Given the description of an element on the screen output the (x, y) to click on. 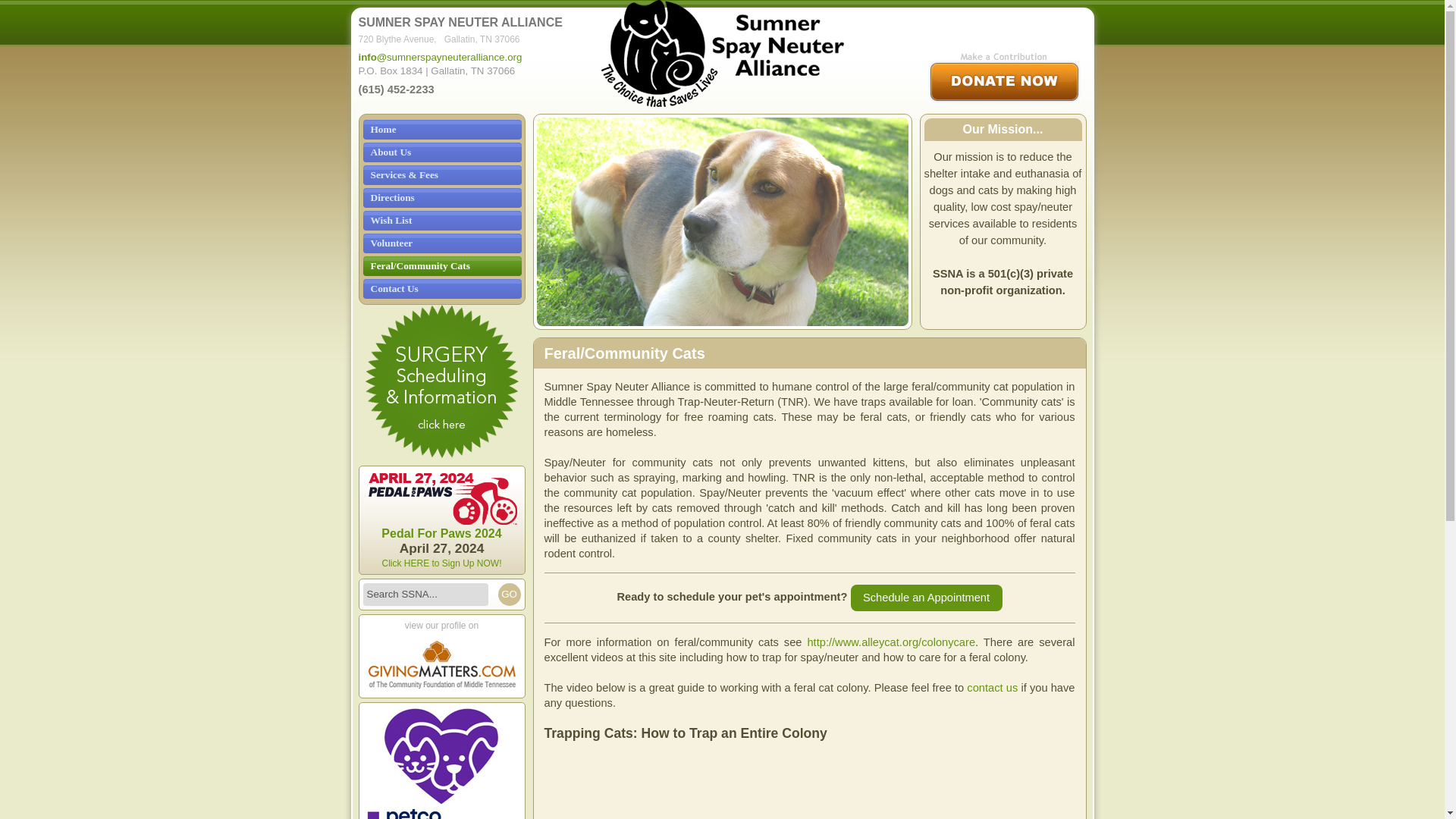
About Us (441, 151)
Schedule an Appointment (926, 597)
Home (441, 128)
Wish List (441, 220)
Donate Now (1004, 78)
GO (508, 594)
Contact Us (441, 288)
Pedal For Paws 2024 (440, 534)
Click HERE to Sign Up NOW! (440, 562)
Surgery Information (441, 380)
Volunteer (441, 242)
GO (508, 594)
contact us (991, 687)
Search SSNA... (424, 594)
Directions (441, 197)
